Given the description of an element on the screen output the (x, y) to click on. 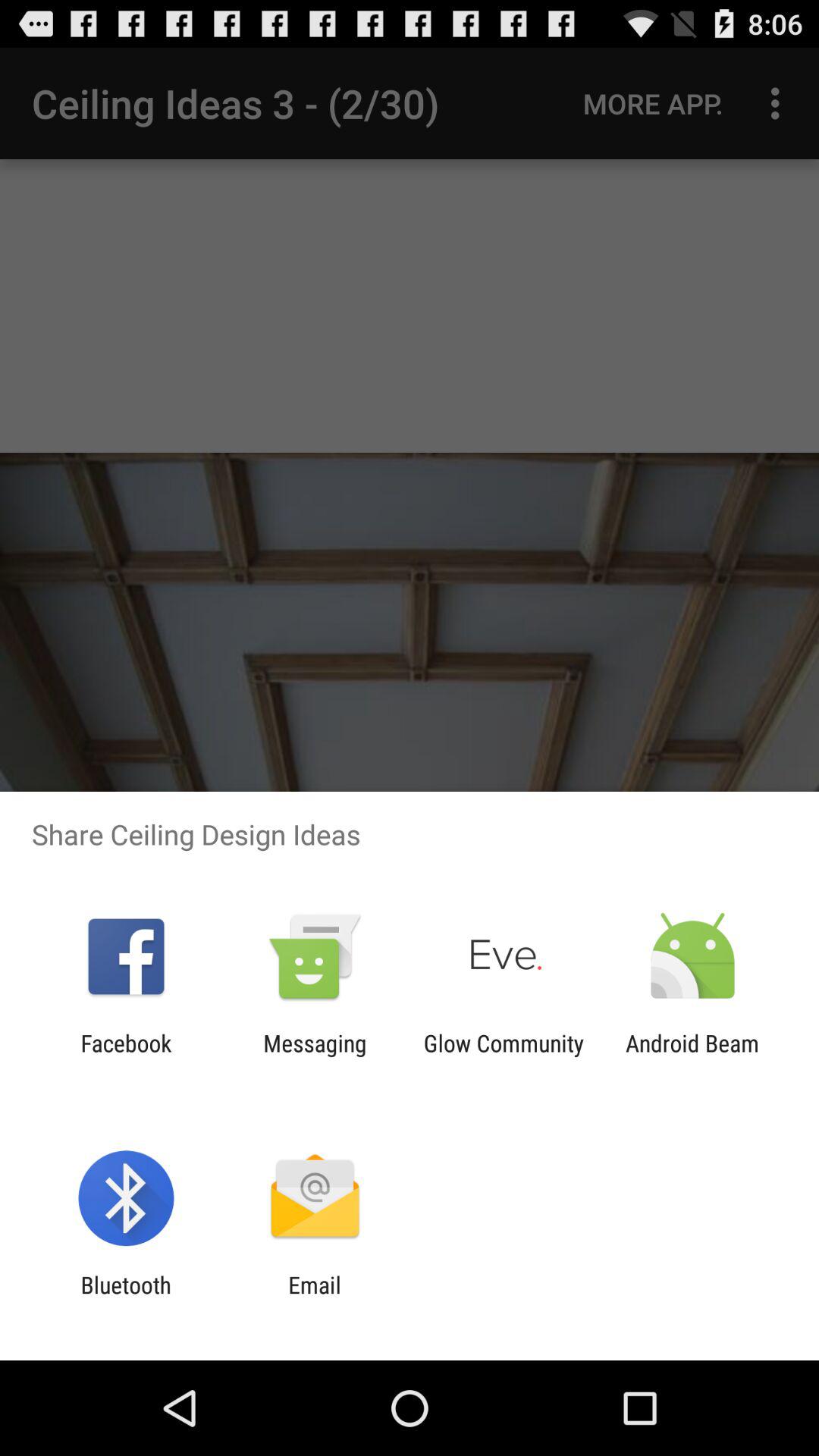
jump until the facebook (125, 1056)
